Given the description of an element on the screen output the (x, y) to click on. 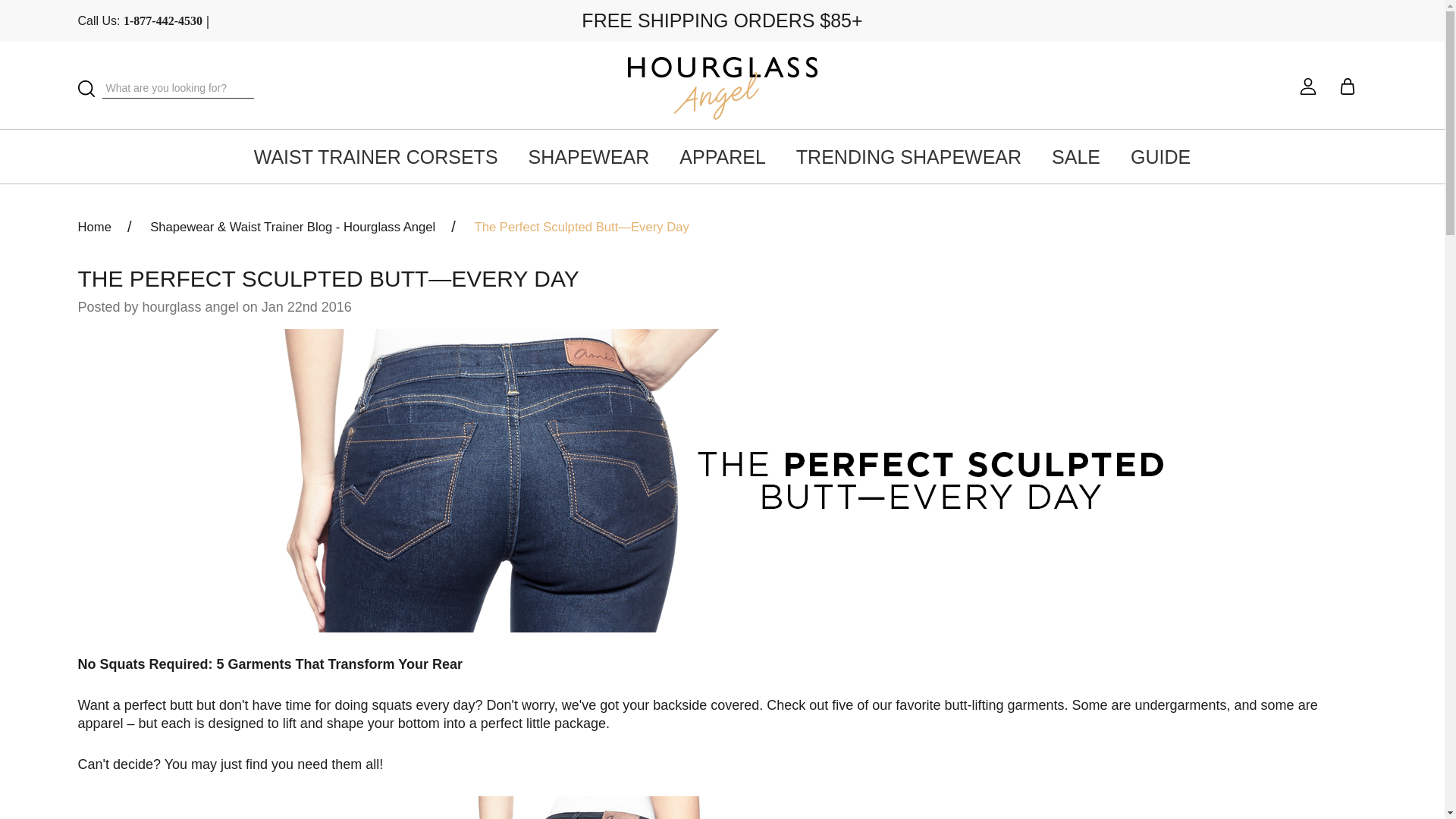
SHAPEWEAR (588, 158)
Hourglass Angel (721, 87)
Call Us: 1-877-442-4530 (141, 19)
WAIST TRAINER CORSETS (375, 158)
